Given the description of an element on the screen output the (x, y) to click on. 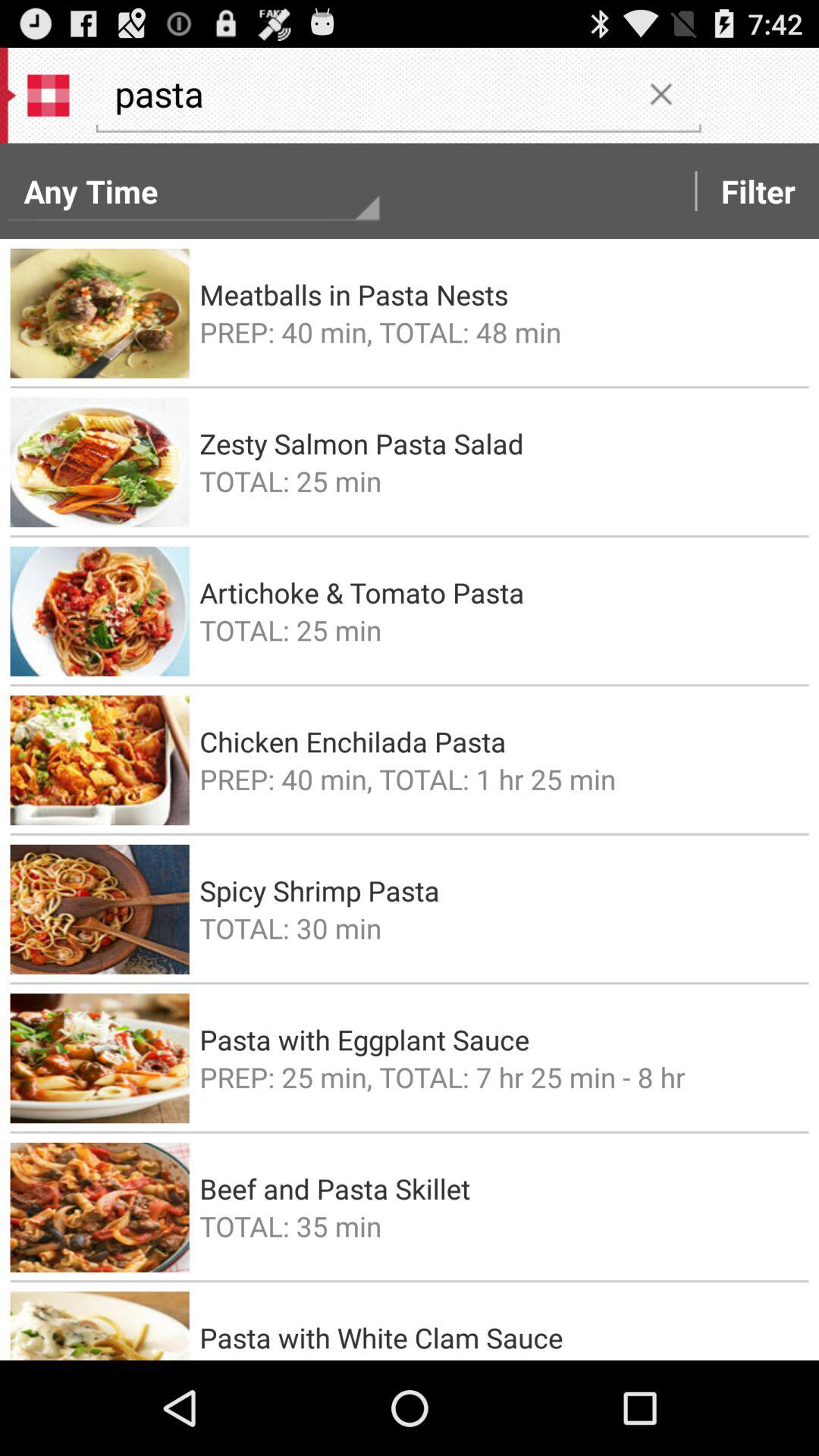
turn on the icon above total: 30 min (498, 890)
